Given the description of an element on the screen output the (x, y) to click on. 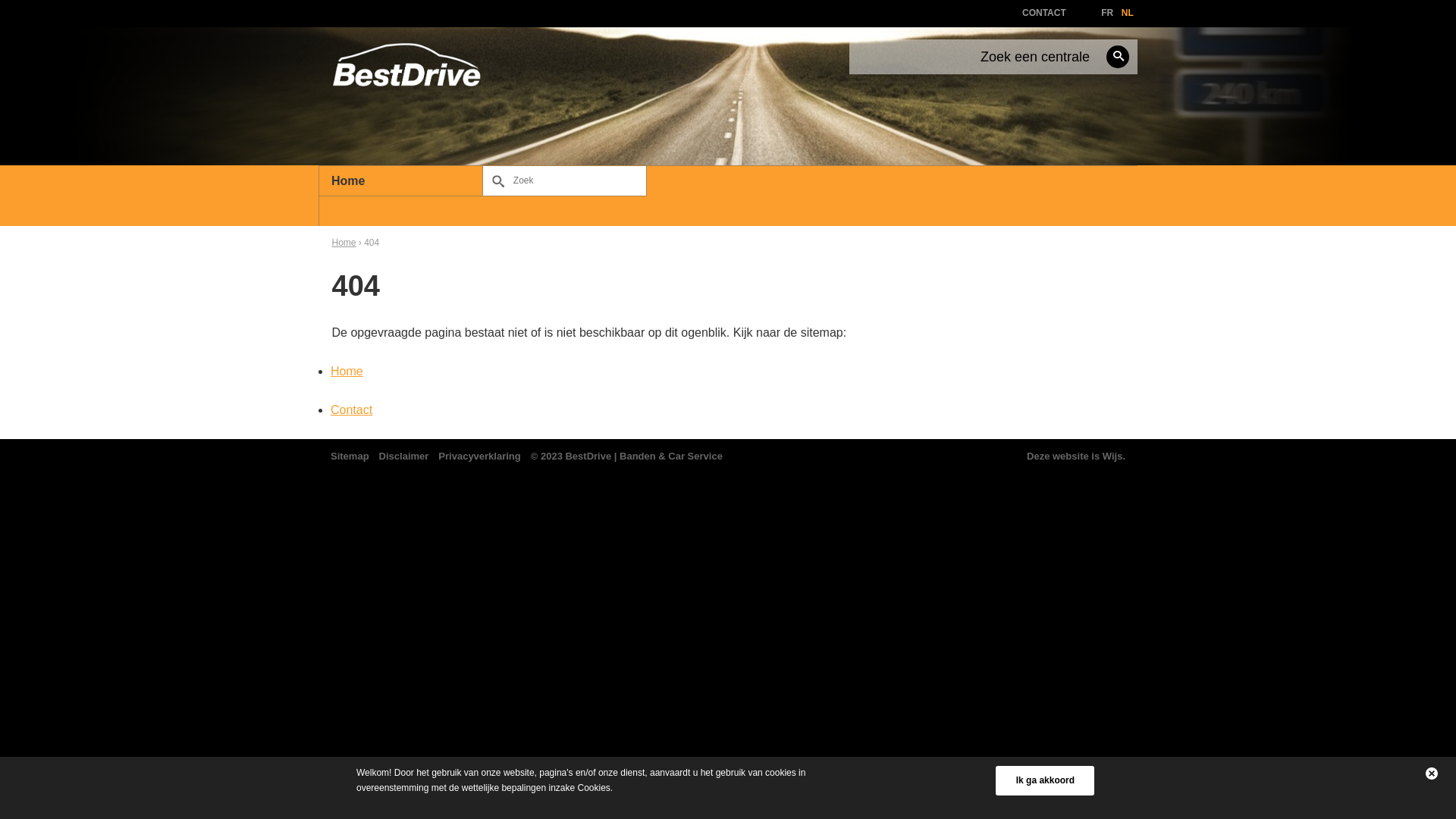
Contact Element type: text (351, 409)
Wijs Element type: text (1112, 455)
Home Element type: text (346, 370)
Disclaimer Element type: text (404, 456)
FR Element type: text (1107, 12)
CONTACT Element type: text (1044, 12)
NL Element type: text (1127, 12)
Home Element type: text (344, 242)
Ik ga akkoord Element type: text (1044, 779)
Privacyverklaring Element type: text (479, 456)
Sitemap Element type: text (349, 456)
Home Element type: text (400, 181)
